Given the description of an element on the screen output the (x, y) to click on. 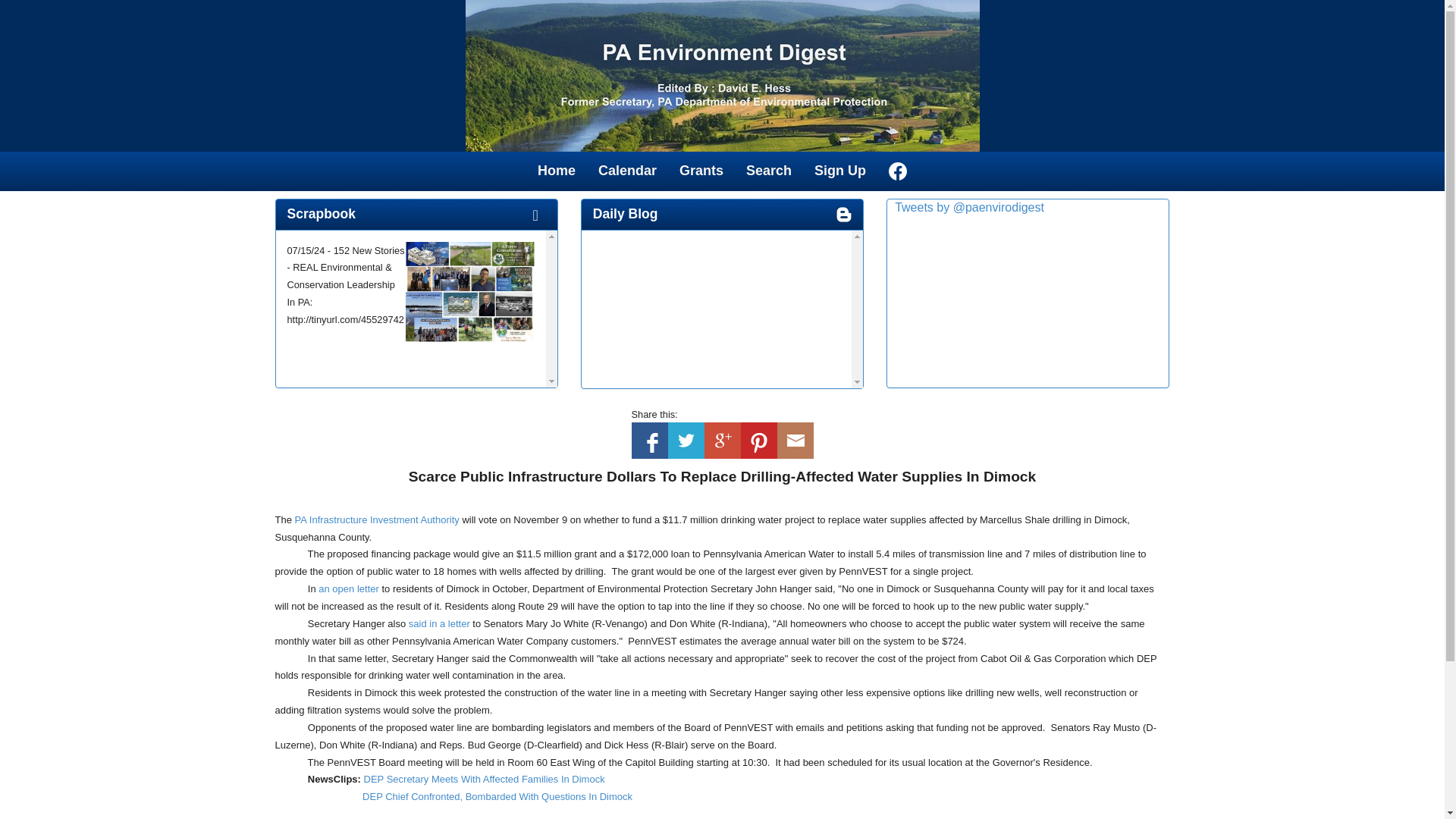
said in a letter (439, 623)
an open letter (348, 588)
Scrapbook (320, 213)
Home (555, 170)
Share on Facebook (648, 440)
DEP Secretary Meets With Affected Families In Dimock (484, 778)
PA Environment Digest on Facebook (897, 171)
Search (769, 170)
PA Infrastructure Investment Authority (377, 519)
Grants (701, 170)
Calendar (627, 170)
PA Infrastructure Investment Authority (377, 519)
Email to friend (794, 440)
DEP Chief Confronted, Bombarded With Questions In Dimock (496, 796)
an open letter (348, 588)
